Given the description of an element on the screen output the (x, y) to click on. 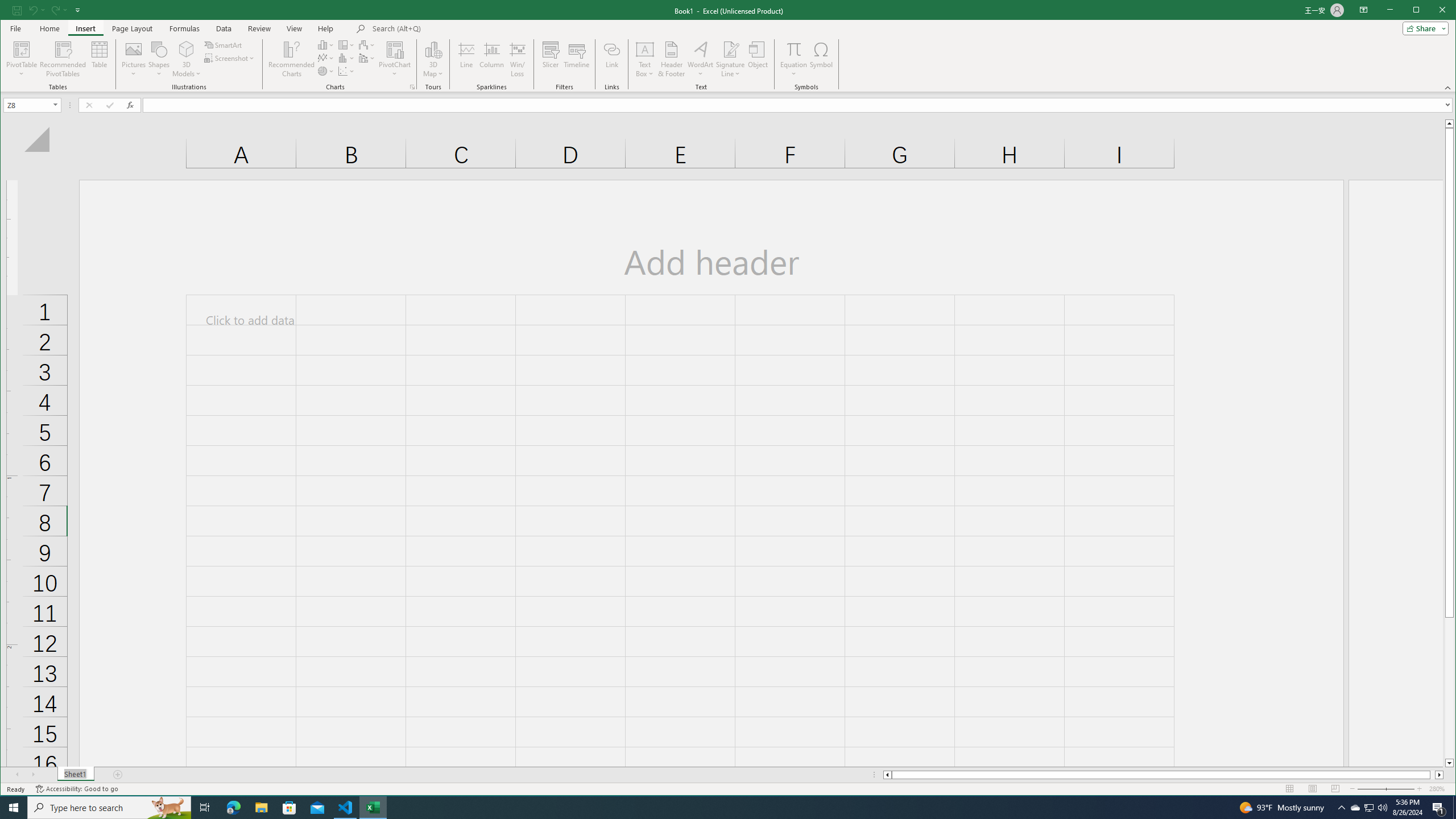
Formula Bar (799, 104)
Insert Combo Chart (366, 57)
Sheet Tab (75, 774)
Insert Statistic Chart (346, 57)
Header & Footer... (670, 59)
WordArt (699, 59)
Slicer... (550, 59)
